Given the description of an element on the screen output the (x, y) to click on. 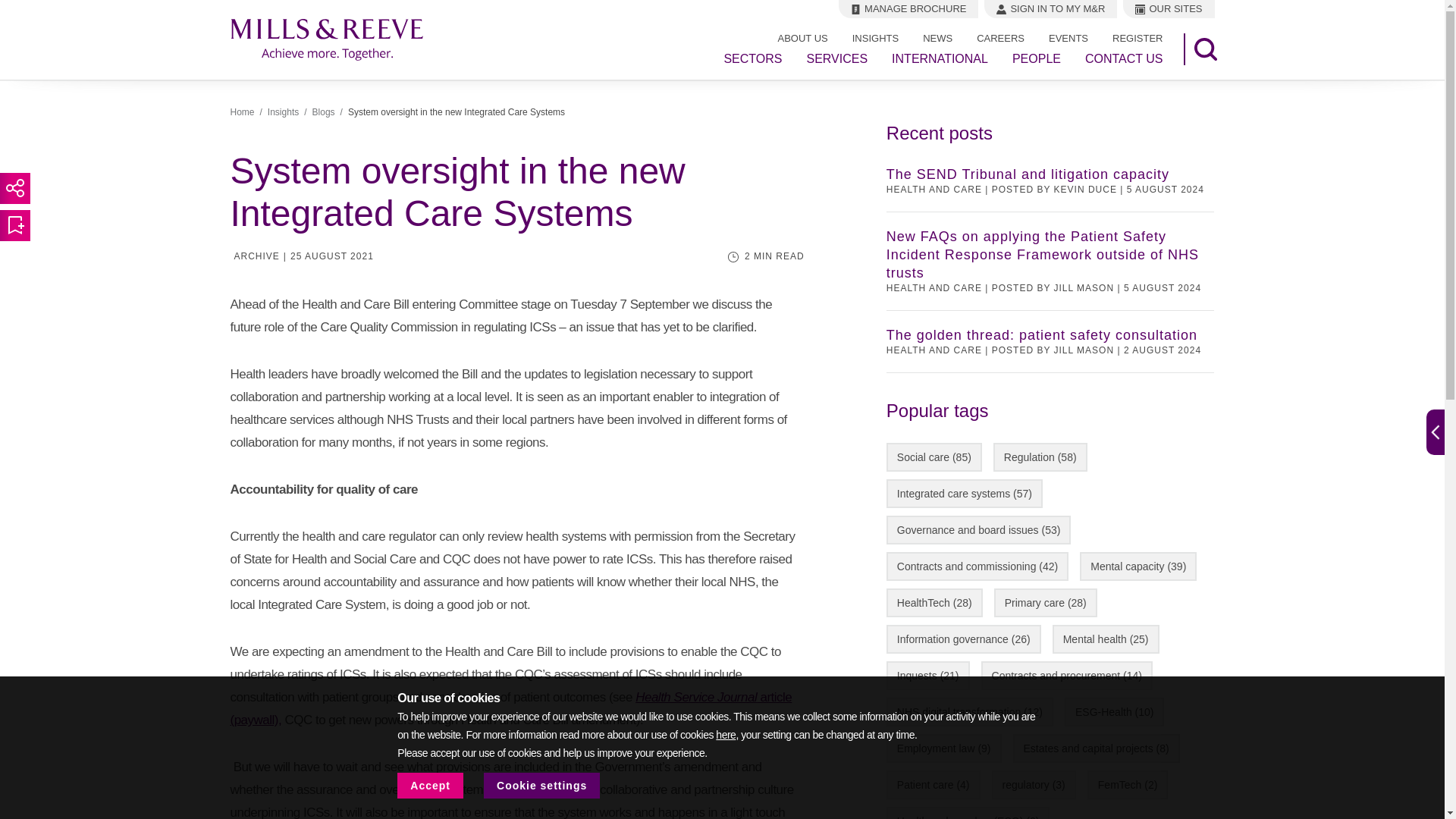
Insights (282, 112)
MANAGE BROCHURE (908, 9)
CONTACT US (1123, 58)
Our sites (1168, 9)
ABOUT US (802, 37)
INSIGHTS (875, 37)
NEWS (937, 37)
INTERNATIONAL (939, 58)
Blogs (323, 112)
Home (242, 112)
SECTORS (752, 58)
SERVICES (836, 58)
REGISTER (1137, 37)
OUR SITES (1168, 9)
EVENTS (1068, 37)
